Given the description of an element on the screen output the (x, y) to click on. 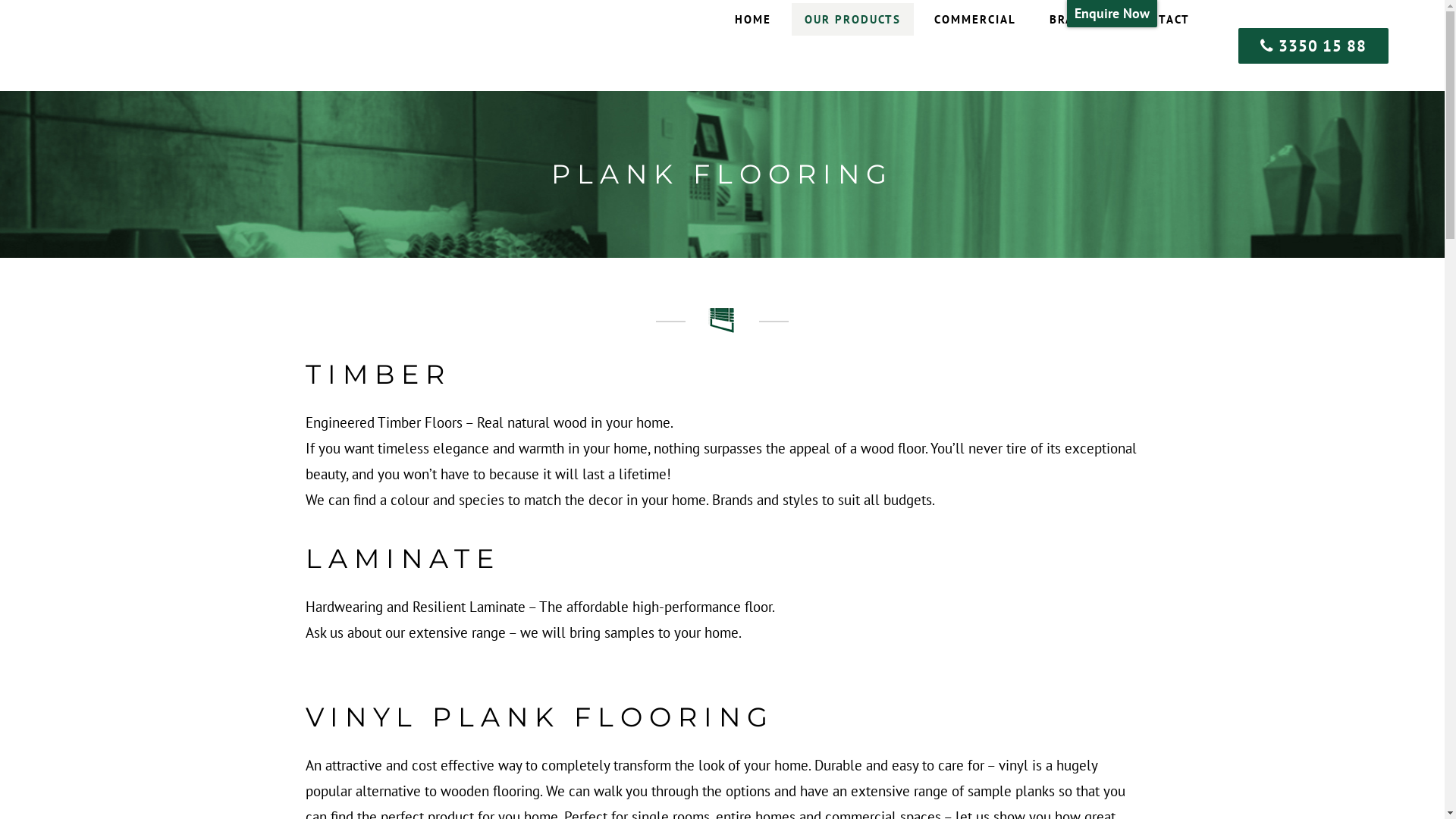
OUR PRODUCTS Element type: text (852, 19)
BRANDS Element type: text (1074, 19)
CONTACT Element type: text (1161, 19)
3350 15 88 Element type: text (1313, 44)
HOME Element type: text (752, 19)
COMMERCIAL Element type: text (974, 19)
